Given the description of an element on the screen output the (x, y) to click on. 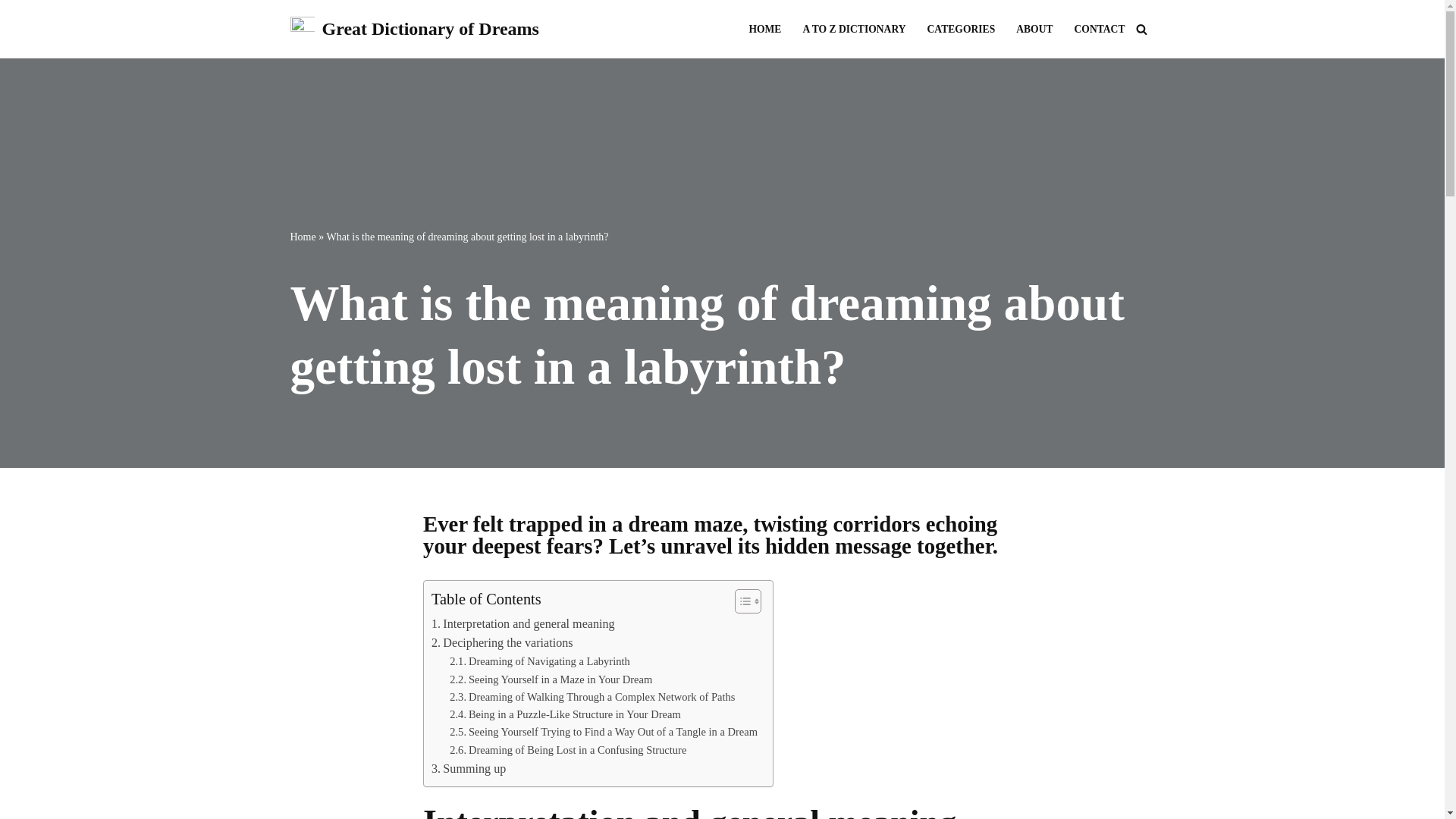
Dreaming of Navigating a Labyrinth (539, 661)
Interpretation and general meaning (522, 623)
Dreaming of Being Lost in a Confusing Structure (567, 750)
Great Dictionary of Dreams (413, 29)
Seeing Yourself in a Maze in Your Dream (550, 679)
Summing up (467, 768)
CONTACT (1099, 28)
Dreaming of Navigating a Labyrinth (539, 661)
A TO Z DICTIONARY (853, 28)
Dreaming of Walking Through a Complex Network of Paths (592, 696)
CATEGORIES (961, 28)
Dreaming of Walking Through a Complex Network of Paths (592, 696)
Deciphering the variations (501, 642)
ABOUT (1034, 28)
